Given the description of an element on the screen output the (x, y) to click on. 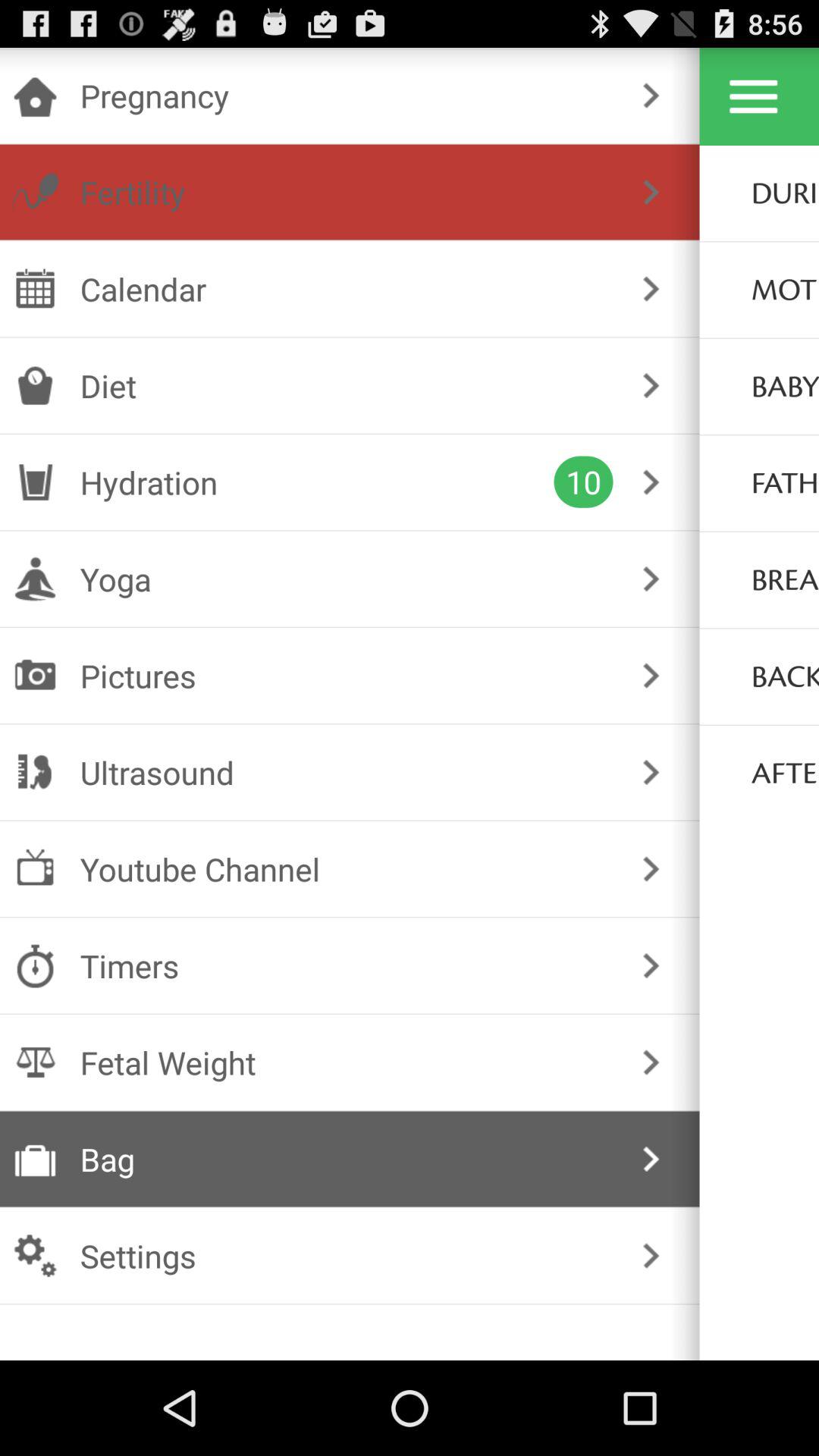
open the checkbox above the ultrasound checkbox (346, 675)
